Given the description of an element on the screen output the (x, y) to click on. 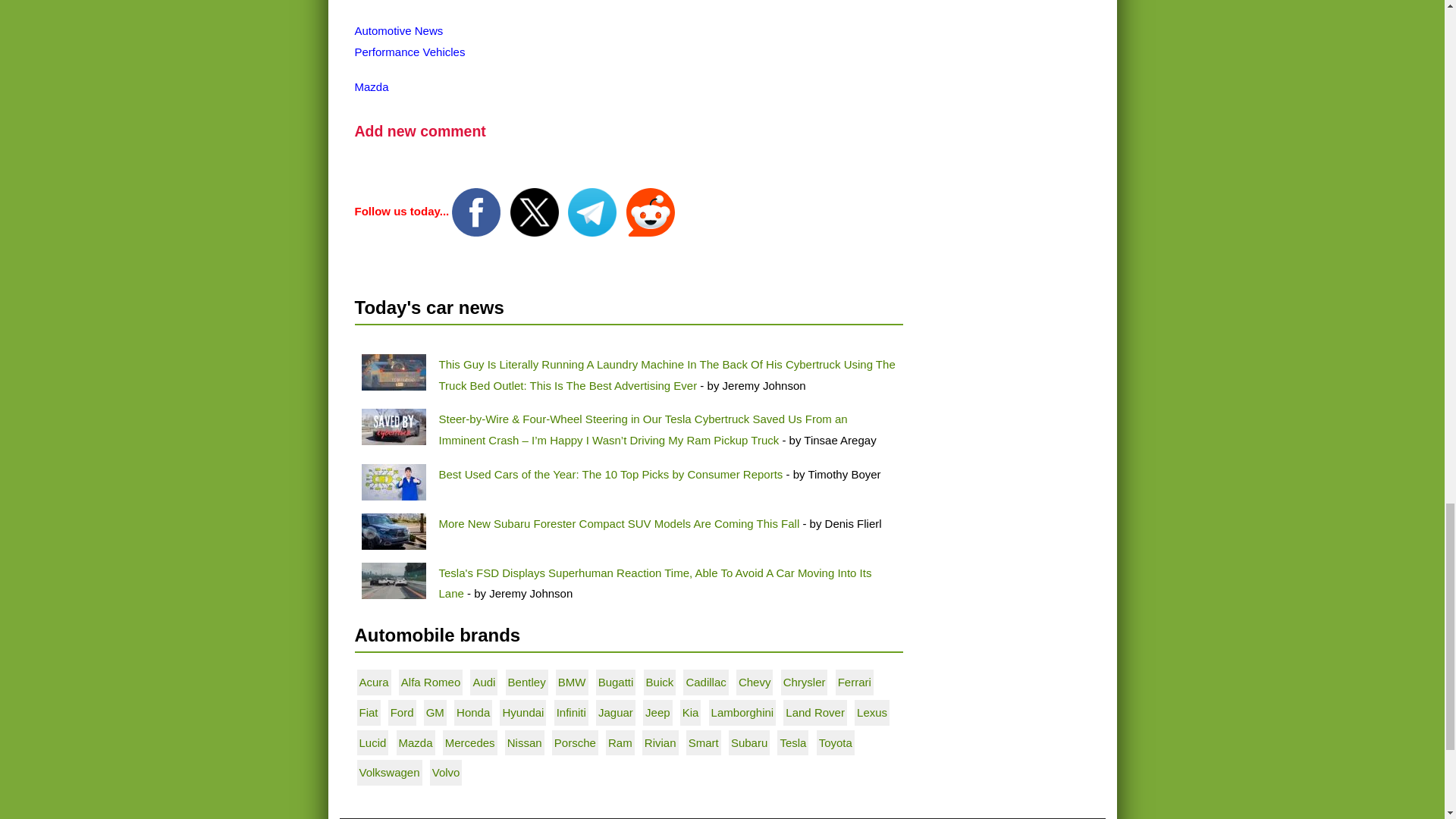
Add new comment (420, 130)
Mazda (371, 86)
Join us on Reddit! (650, 210)
Share your thoughts and opinions. (420, 130)
2025 Subaru Forester front view (393, 531)
